Given the description of an element on the screen output the (x, y) to click on. 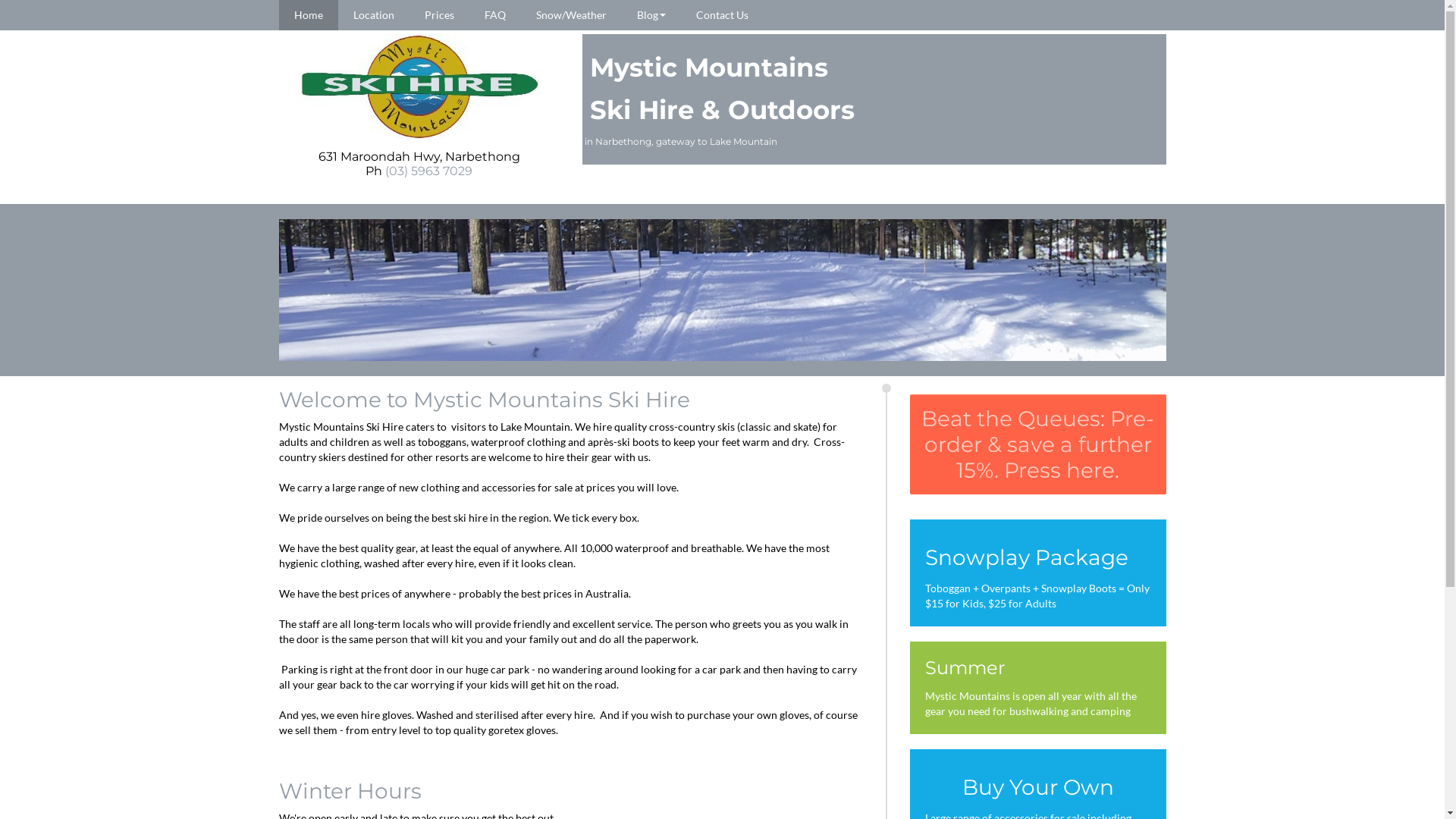
Snow/Weather Element type: text (570, 15)
(03) 5963 7029 Element type: text (428, 170)
Winter Hours Element type: text (350, 790)
Beat the Queues: Pre-order & save a further 15%. Press here. Element type: text (1038, 444)
Blog Element type: text (650, 15)
Welcome to Mystic Mountains Ski Hire Element type: text (484, 399)
Prices Element type: text (439, 15)
Location Element type: text (373, 15)
Contact Us Element type: text (721, 15)
Home Element type: text (308, 15)
FAQ Element type: text (494, 15)
